Given the description of an element on the screen output the (x, y) to click on. 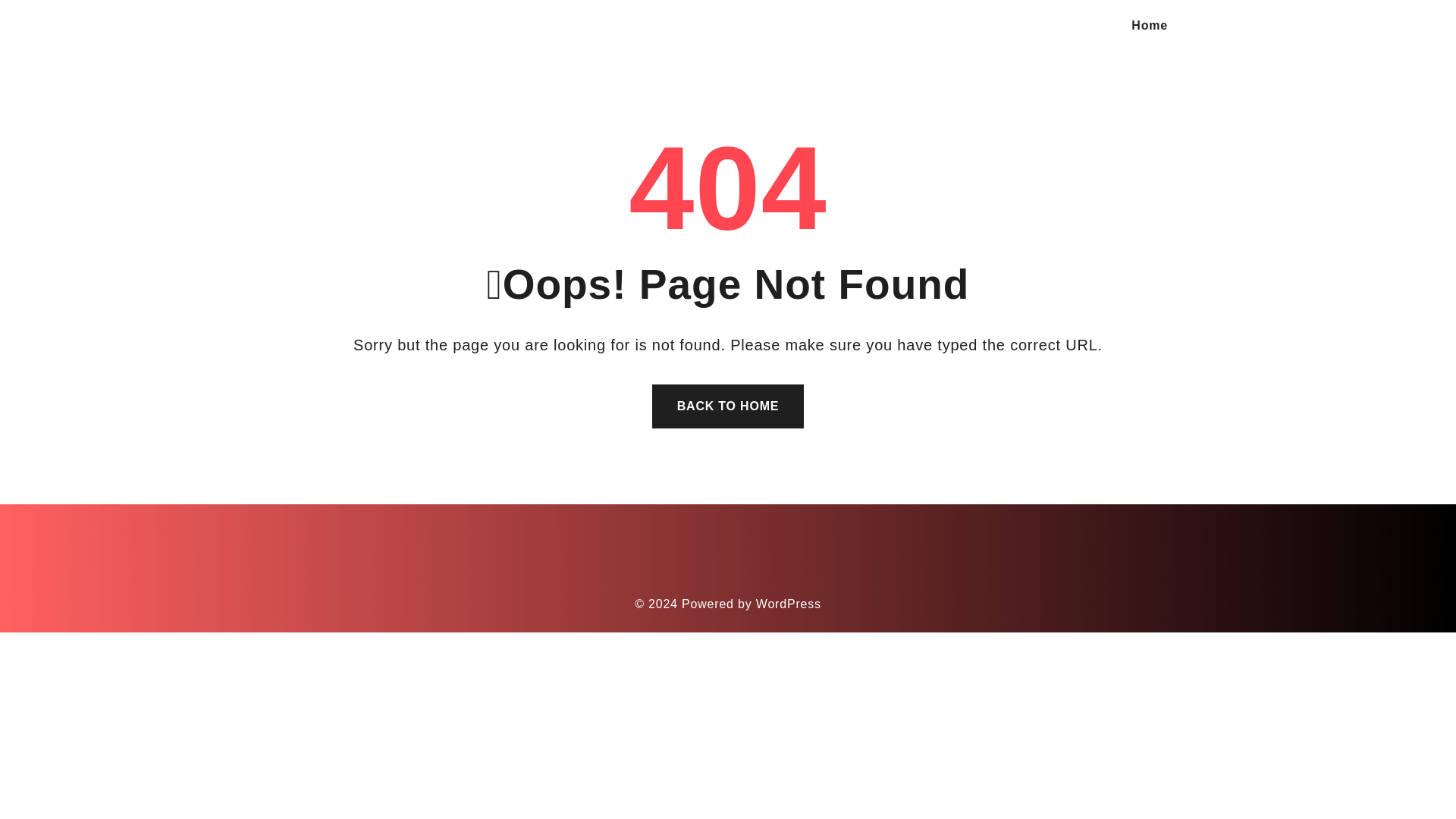
Home (1149, 25)
BACK TO HOME (727, 406)
Home (1149, 25)
